Given the description of an element on the screen output the (x, y) to click on. 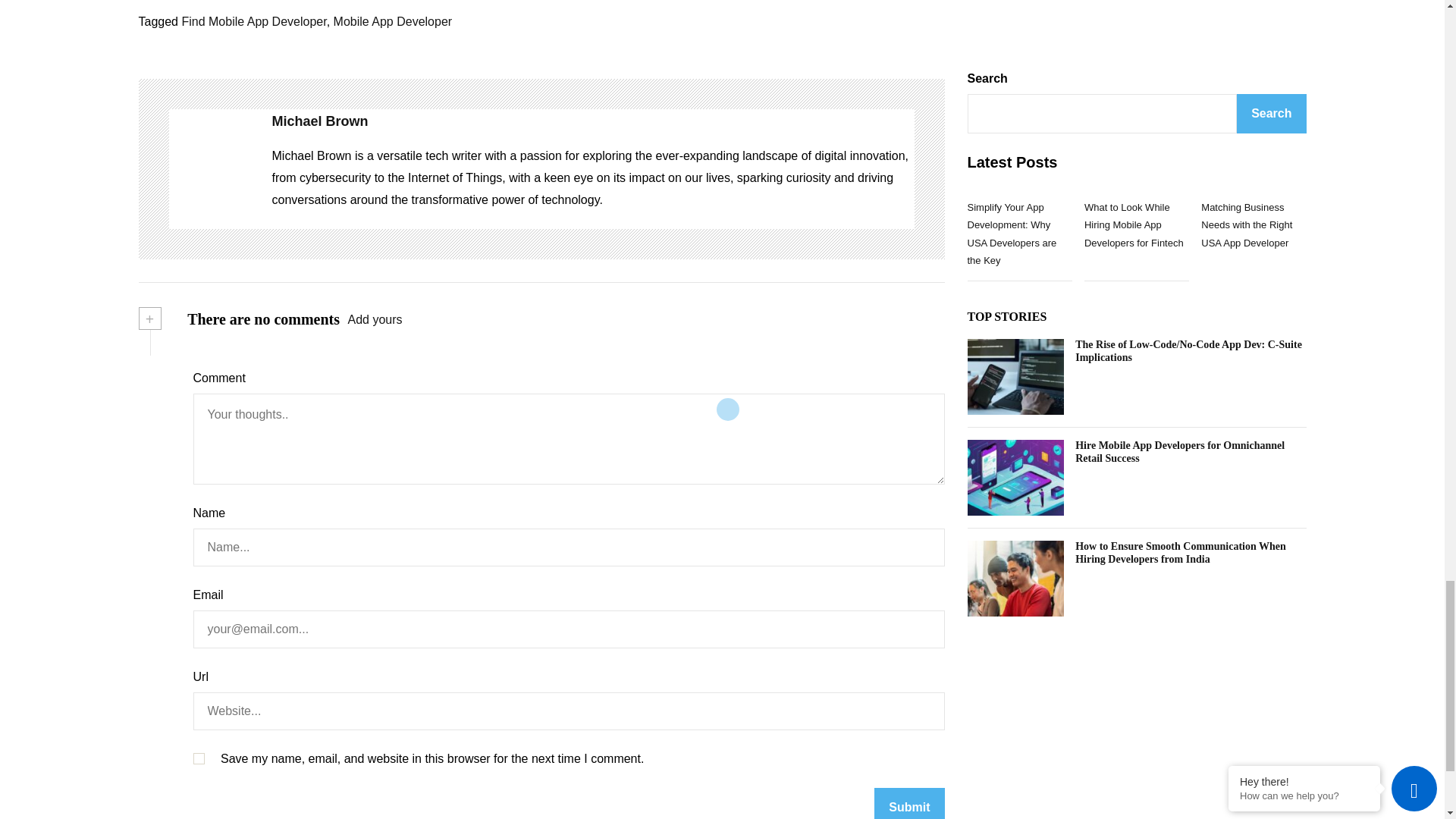
yes (197, 758)
Michael Brown (212, 168)
Michael Brown (592, 120)
Submit (909, 803)
